Given the description of an element on the screen output the (x, y) to click on. 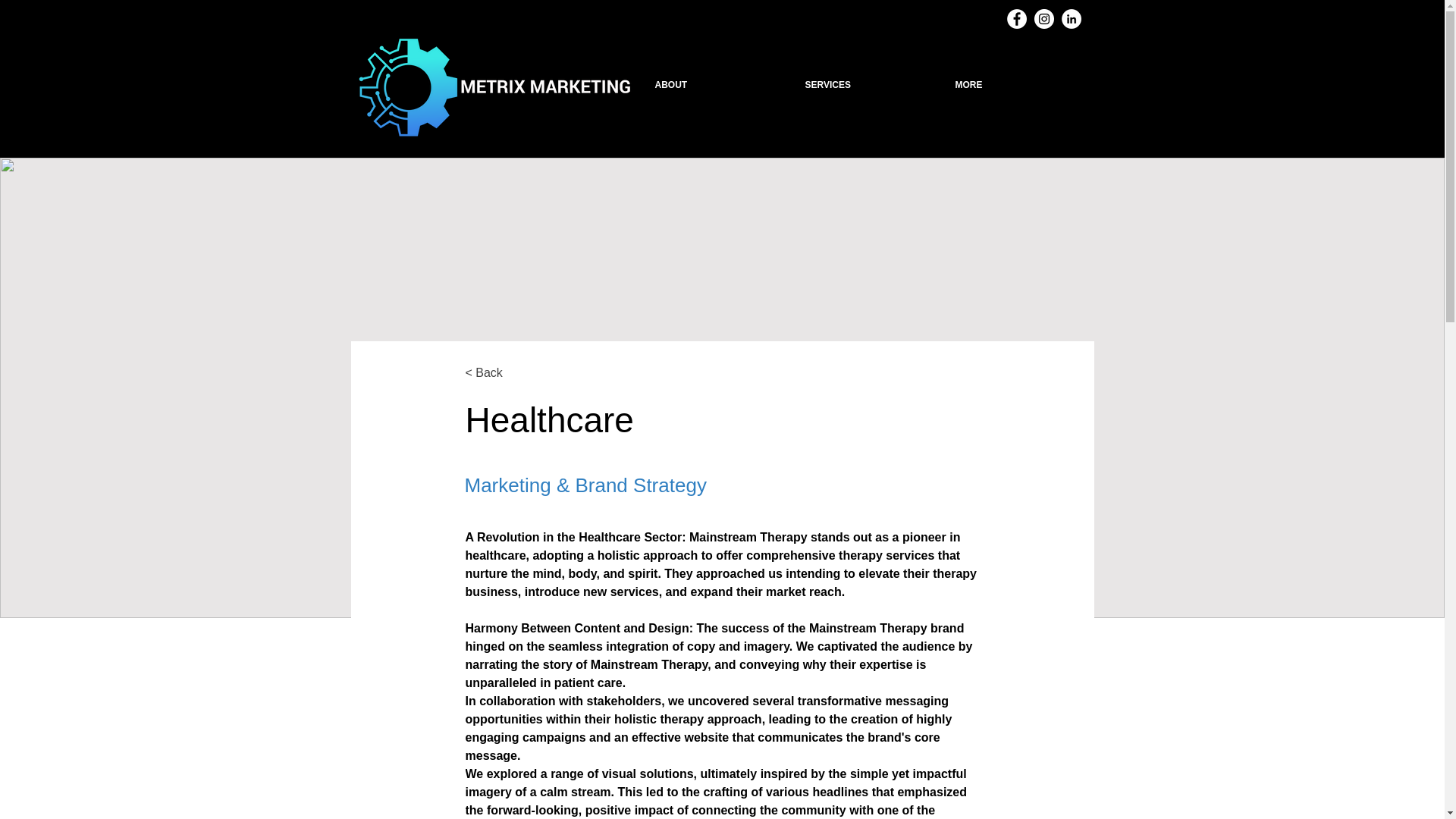
SERVICES (868, 85)
ABOUT (718, 85)
